Given the description of an element on the screen output the (x, y) to click on. 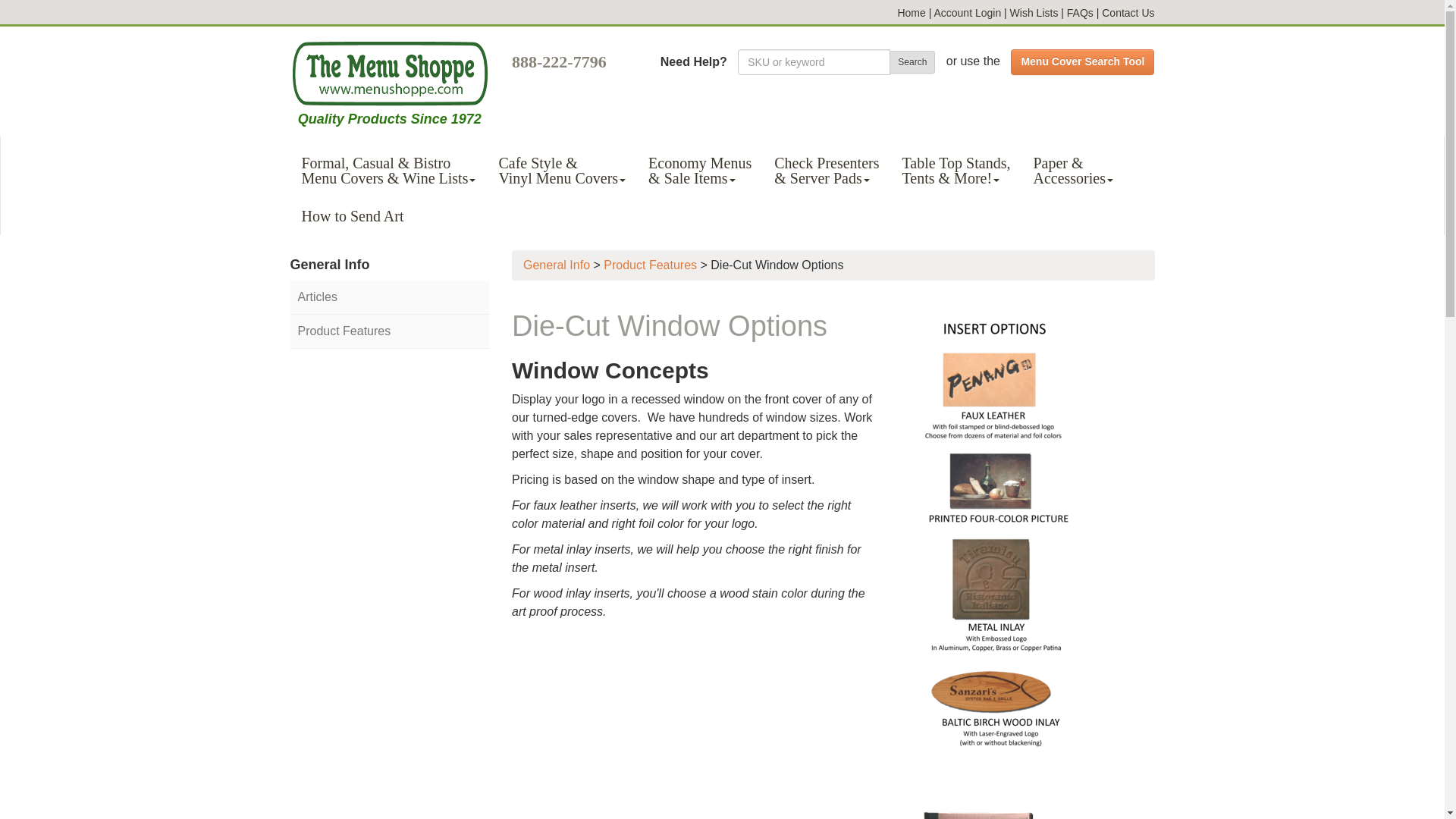
888-222-7796 (559, 55)
Contact Us (1128, 12)
Account Login (967, 12)
FAQs (1080, 12)
Search (911, 61)
Wish Lists (1034, 12)
Home (910, 12)
Menu Cover Search Tool (1082, 62)
